Given the description of an element on the screen output the (x, y) to click on. 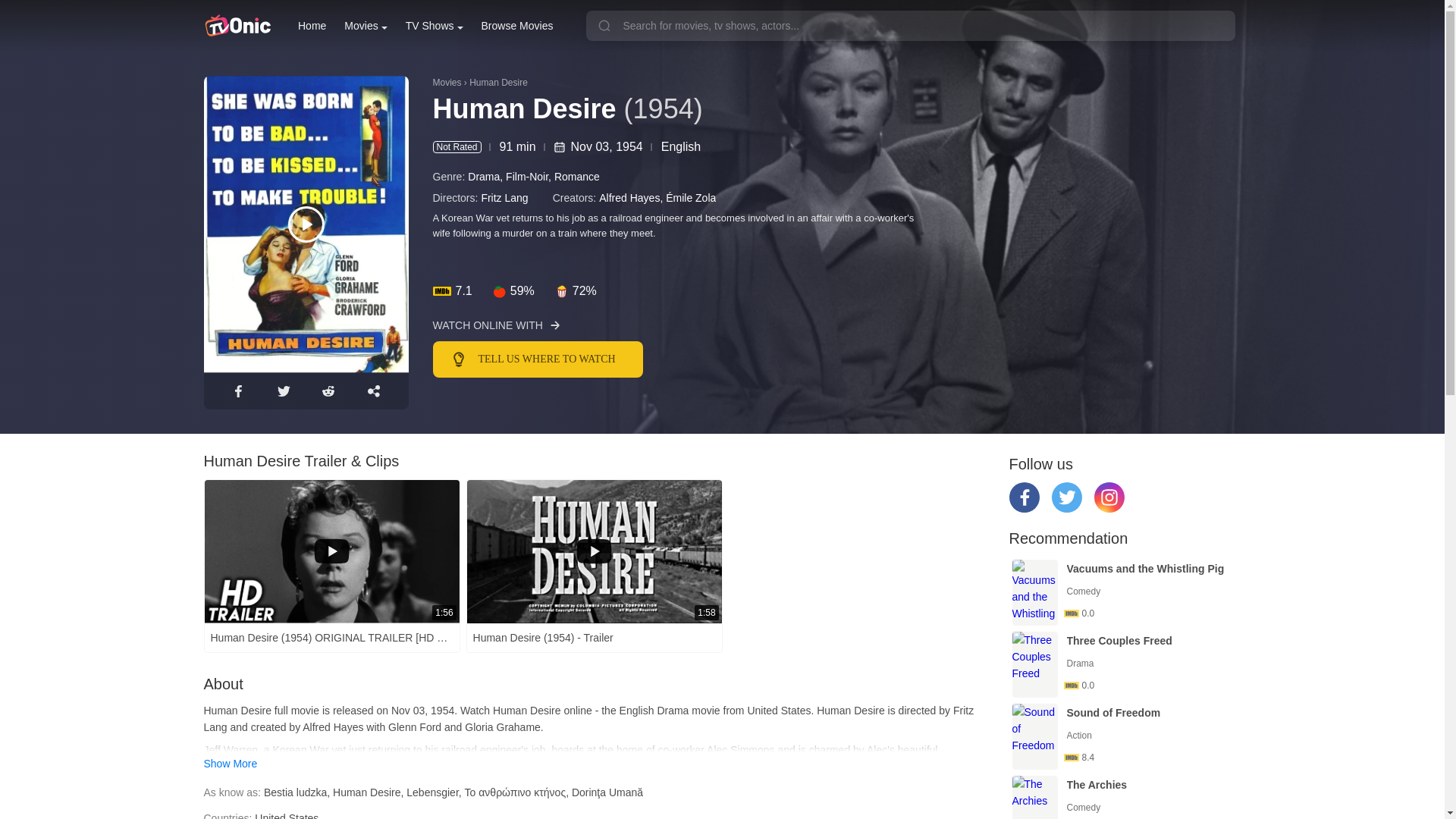
Movies (365, 25)
Home (312, 25)
TVOnic (236, 25)
TELL US WHERE TO WATCH (647, 359)
Movies (365, 25)
TV Shows (434, 25)
